Given the description of an element on the screen output the (x, y) to click on. 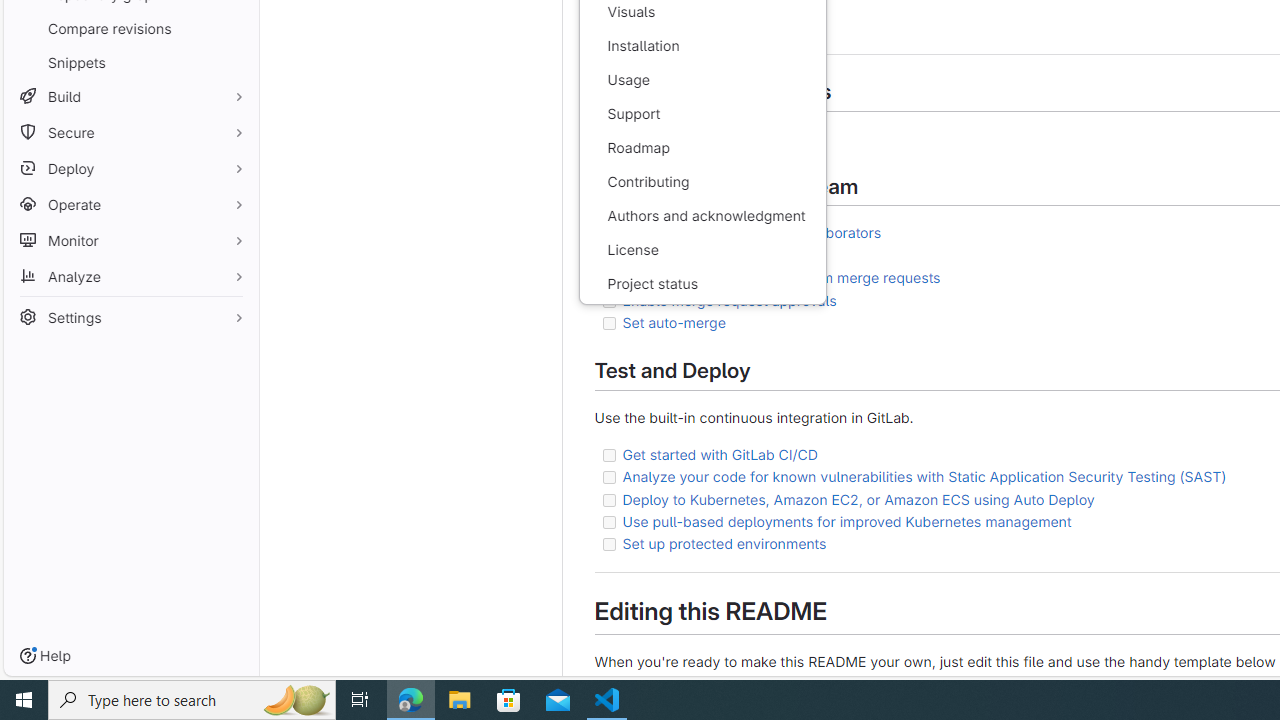
Operate (130, 204)
Installation (701, 45)
Roadmap (701, 147)
Analyze (130, 276)
Invite team members and collaborators (751, 232)
Monitor (130, 240)
Class: task-list-item-checkbox (608, 544)
Support (701, 113)
Installation (701, 45)
Deploy (130, 168)
Operate (130, 204)
License (701, 249)
Build (130, 96)
Compare revisions (130, 28)
makeareadme.com (727, 682)
